Given the description of an element on the screen output the (x, y) to click on. 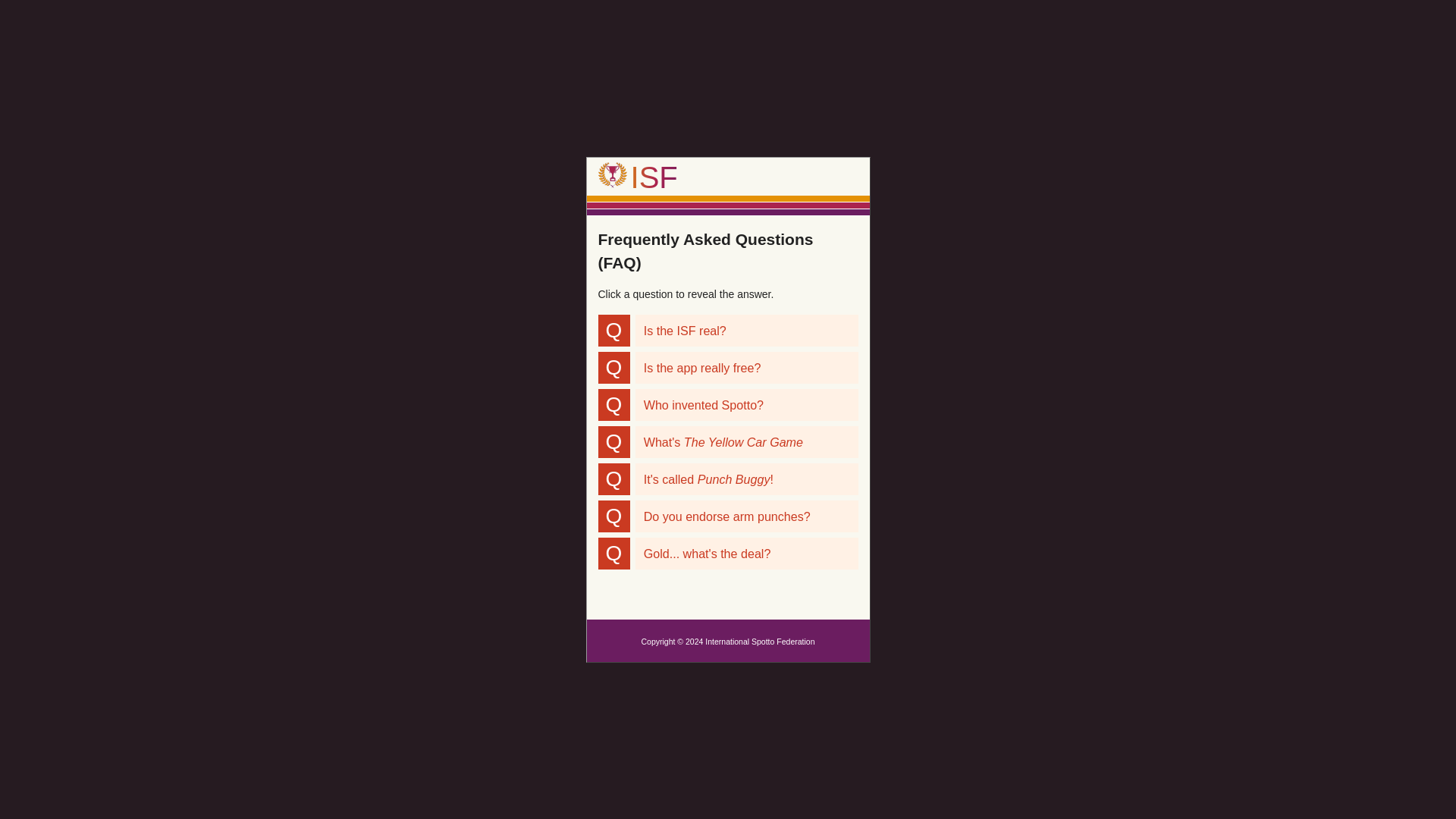
International Spotto Federation (637, 176)
Gold... what's the deal? (746, 553)
Skip to main content (727, 148)
Who invented Spotto? (746, 404)
ISF (637, 176)
It's called Punch Buggy! (746, 479)
Is the ISF real? (746, 330)
Is the app really free? (746, 368)
What's The Yellow Car Game (746, 441)
Do you endorse arm punches? (746, 516)
